Given the description of an element on the screen output the (x, y) to click on. 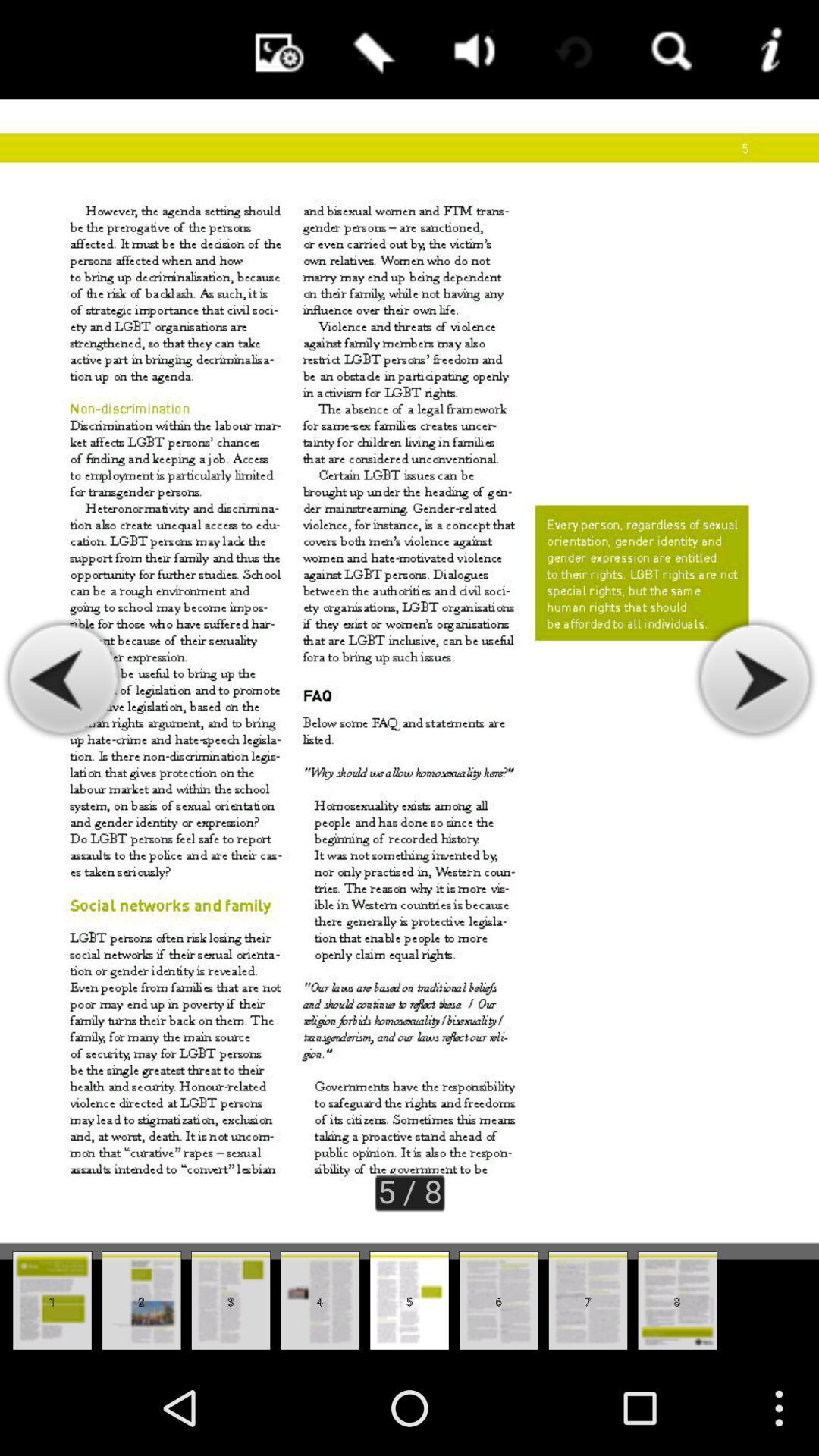
bookmark this page (370, 49)
